Given the description of an element on the screen output the (x, y) to click on. 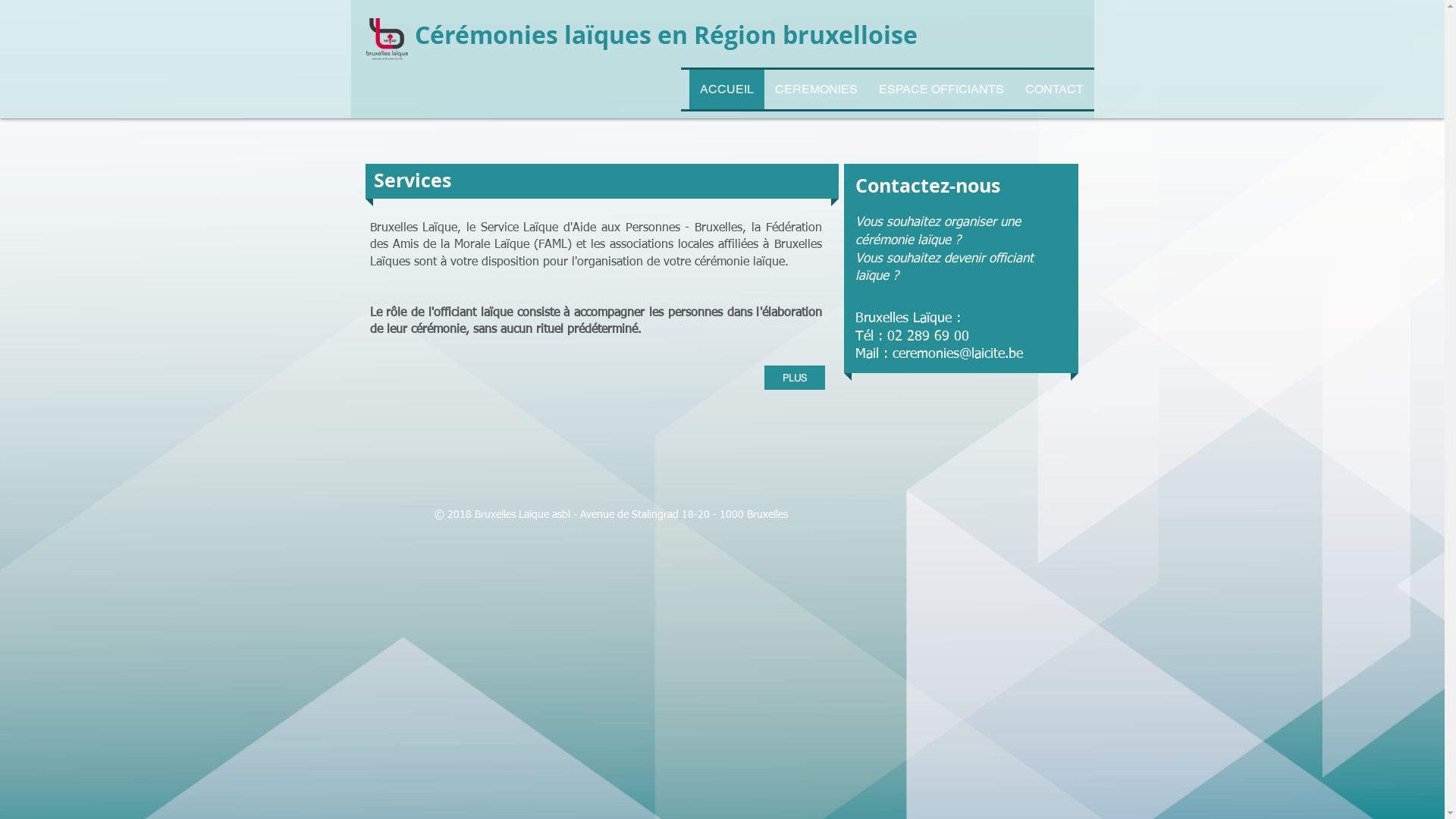
ACCUEIL Element type: text (725, 89)
ESPACE OFFICIANTS Element type: text (940, 89)
PLUS Element type: text (794, 377)
CONTACT Element type: text (1054, 89)
ceremonies@laicite.be Element type: text (956, 353)
CEREMONIES Element type: text (816, 89)
